Given the description of an element on the screen output the (x, y) to click on. 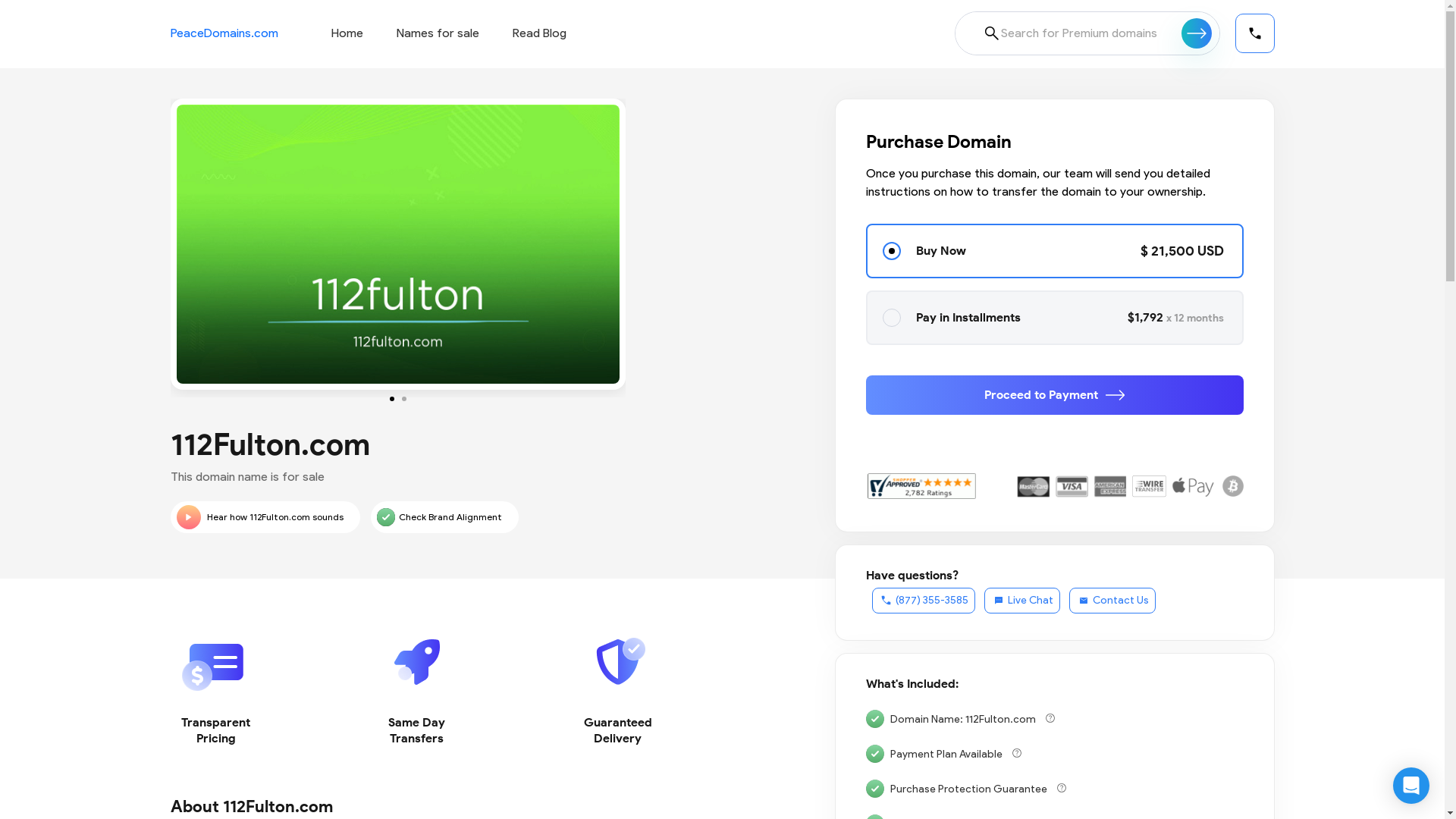
Read Blog Element type: text (539, 33)
Buy Now
$ 21,500 USD Element type: text (1054, 250)
Hear how 112Fulton.com sounds Element type: text (264, 517)
(877) 355-3585 Element type: text (923, 600)
PeaceDomains.com Element type: text (223, 33)
Contact Us Element type: text (1112, 600)
Home Element type: text (346, 33)
Check Brand Alignment Element type: text (443, 517)
Names for sale Element type: text (436, 33)
Proceed to Payment Element type: text (1054, 394)
Live Chat Element type: text (1022, 600)
